Given the description of an element on the screen output the (x, y) to click on. 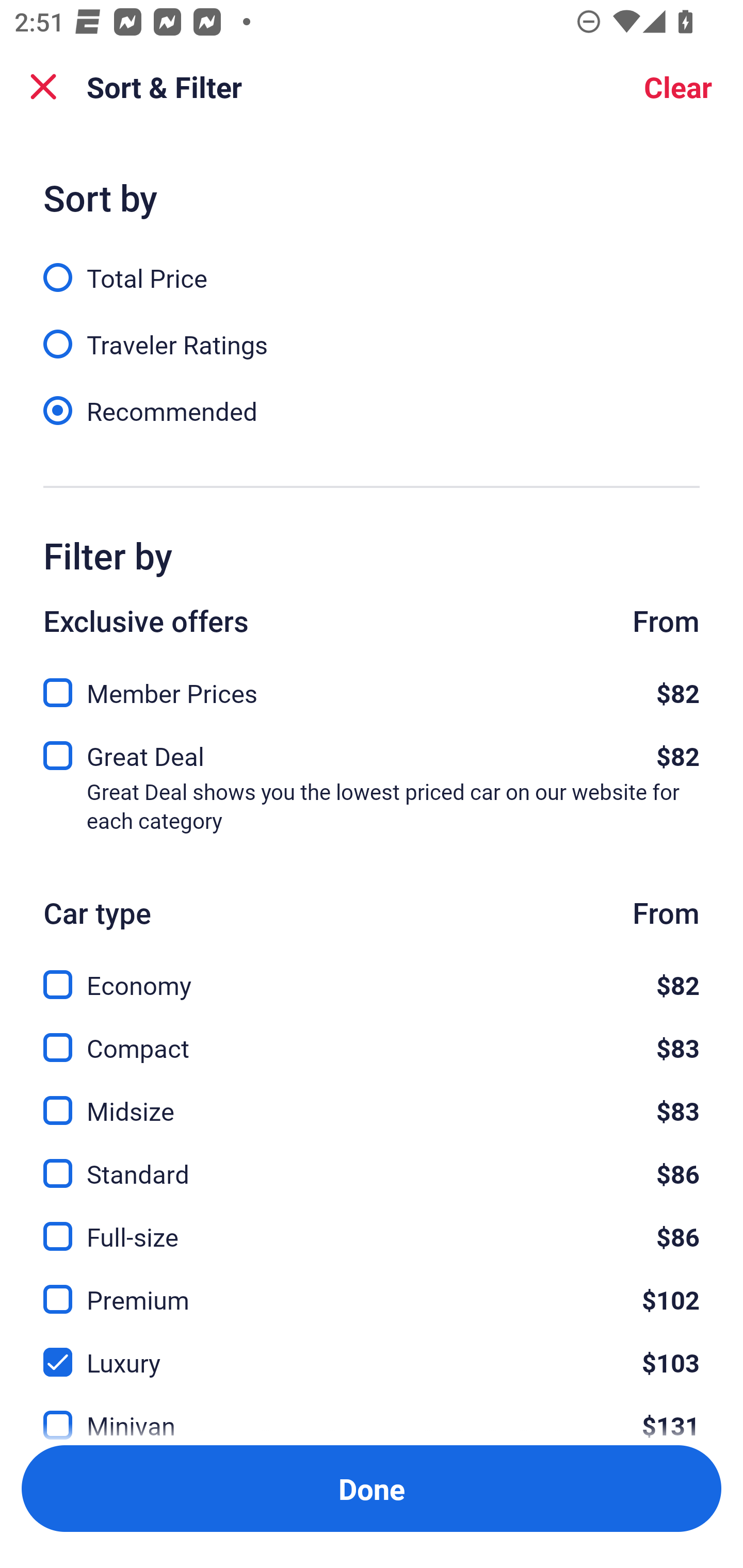
Close Sort and Filter (43, 86)
Clear (677, 86)
Total Price (371, 266)
Traveler Ratings (371, 332)
Member Prices, $82 Member Prices $82 (371, 686)
Economy, $82 Economy $82 (371, 973)
Compact, $83 Compact $83 (371, 1036)
Midsize, $83 Midsize $83 (371, 1098)
Standard, $86 Standard $86 (371, 1161)
Full-size, $86 Full-size $86 (371, 1224)
Premium, $102 Premium $102 (371, 1286)
Luxury, $103 Luxury $103 (371, 1350)
Minivan, $131 Minivan $131 (371, 1413)
Apply and close Sort and Filter Done (371, 1488)
